Given the description of an element on the screen output the (x, y) to click on. 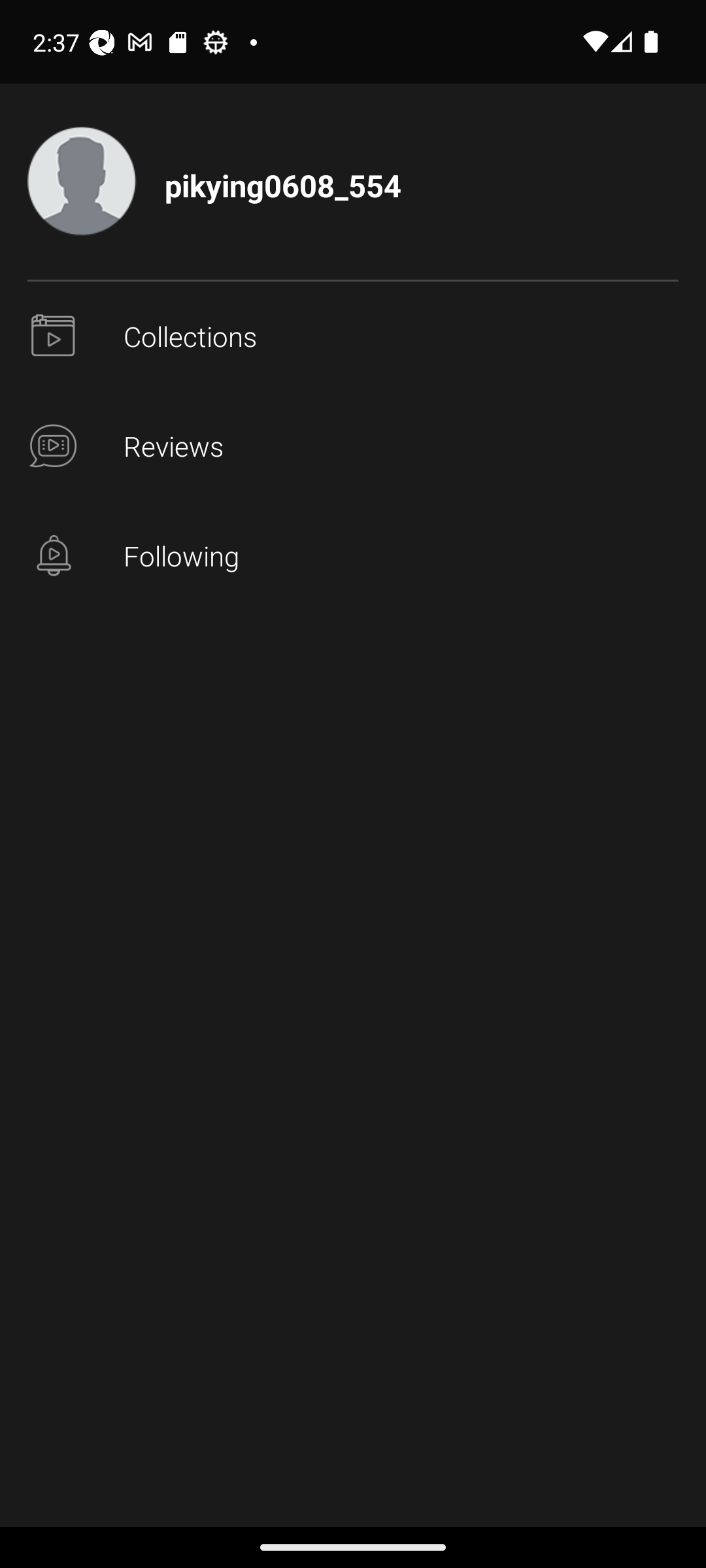
profile_page_user_collections Collections (353, 337)
Reviews (353, 446)
Following (353, 556)
